Given the description of an element on the screen output the (x, y) to click on. 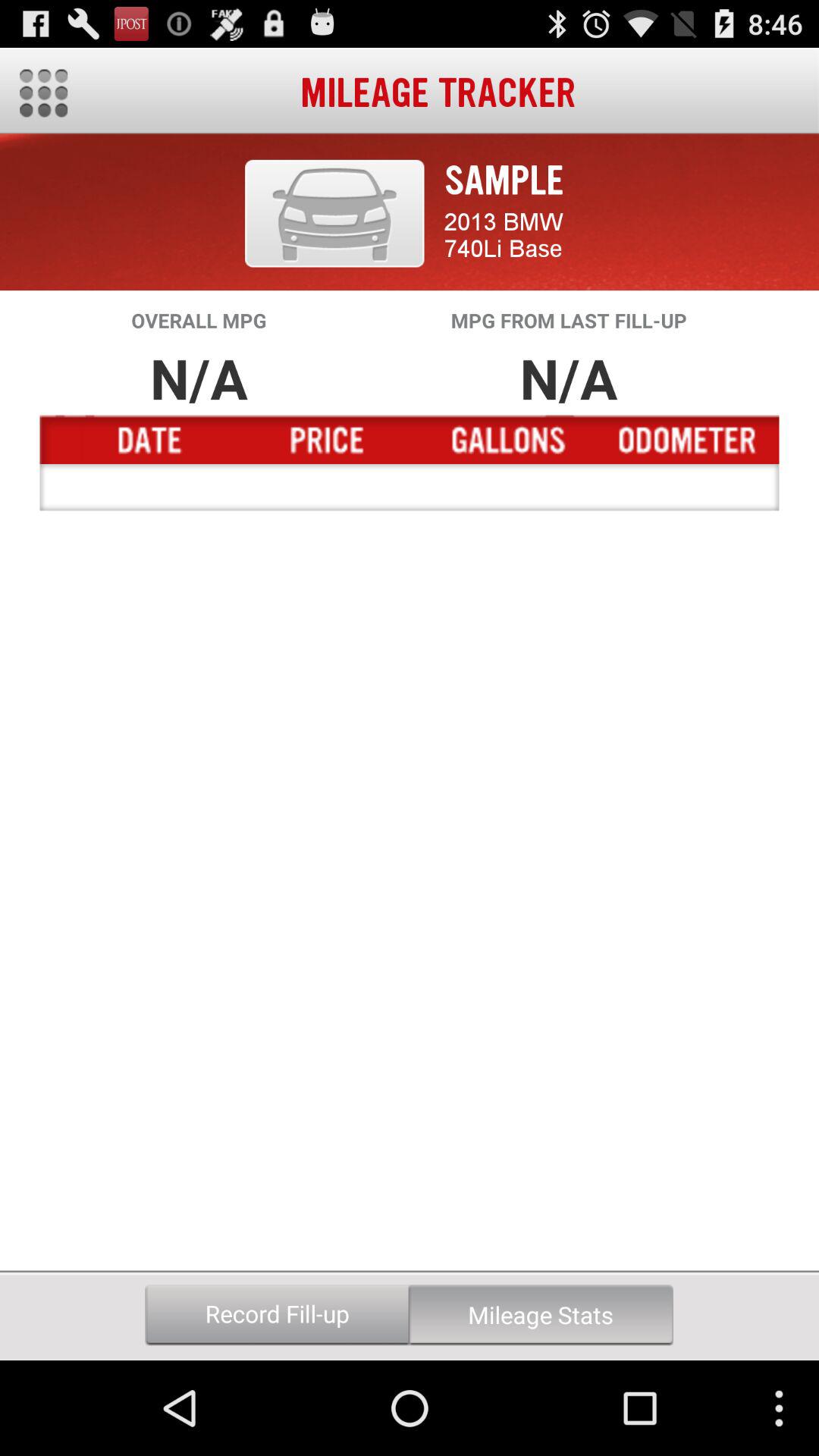
open the icon to the left of the sample  icon (334, 213)
